Given the description of an element on the screen output the (x, y) to click on. 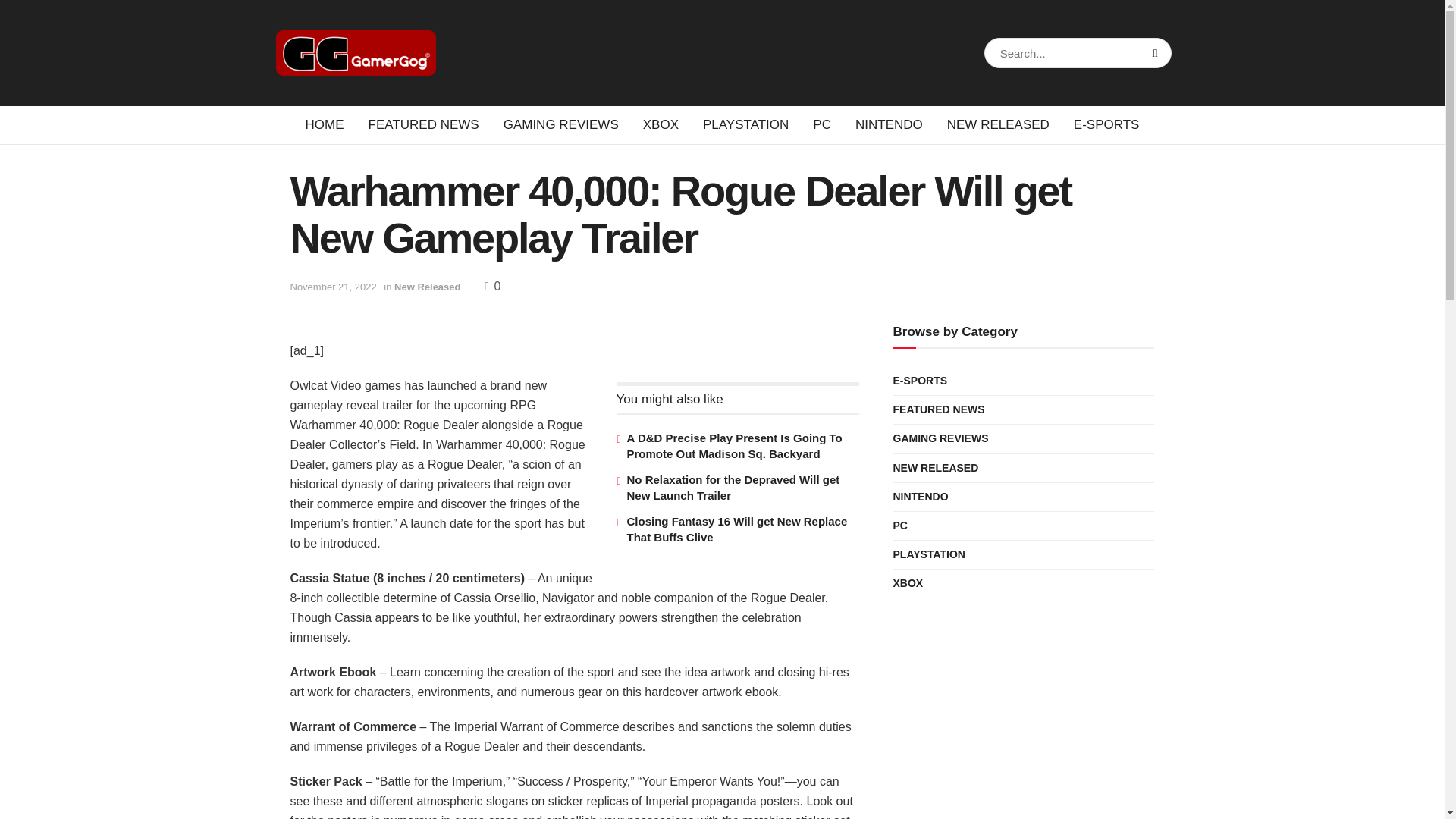
E-SPORTS (1106, 125)
November 21, 2022 (332, 286)
FEATURED NEWS (424, 125)
GAMING REVIEWS (561, 125)
New Released (427, 286)
PC (821, 125)
XBOX (660, 125)
HOME (325, 125)
0 (492, 286)
NEW RELEASED (997, 125)
